Given the description of an element on the screen output the (x, y) to click on. 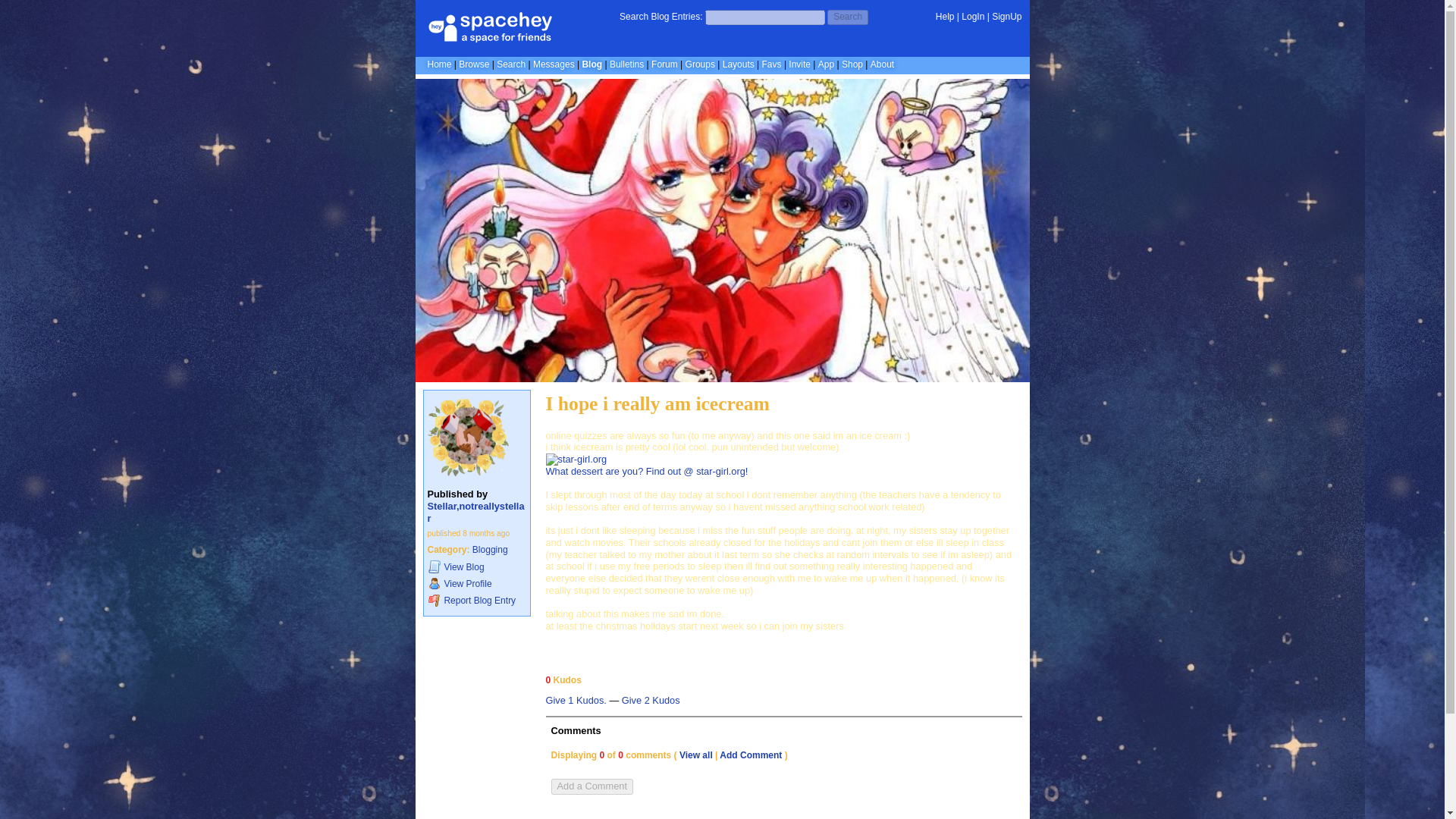
Blog (591, 63)
Give 1 Kudos. (576, 700)
App (826, 63)
Add a Comment (590, 786)
About (881, 63)
SpaceHey Mobile (826, 63)
SignUp (1006, 16)
Add a Comment (590, 785)
Report Blog Entry (476, 599)
Give 2 Kudos (650, 700)
Invite (799, 63)
Home (439, 63)
Bulletins (626, 63)
Browse (473, 63)
Messages (553, 63)
